Given the description of an element on the screen output the (x, y) to click on. 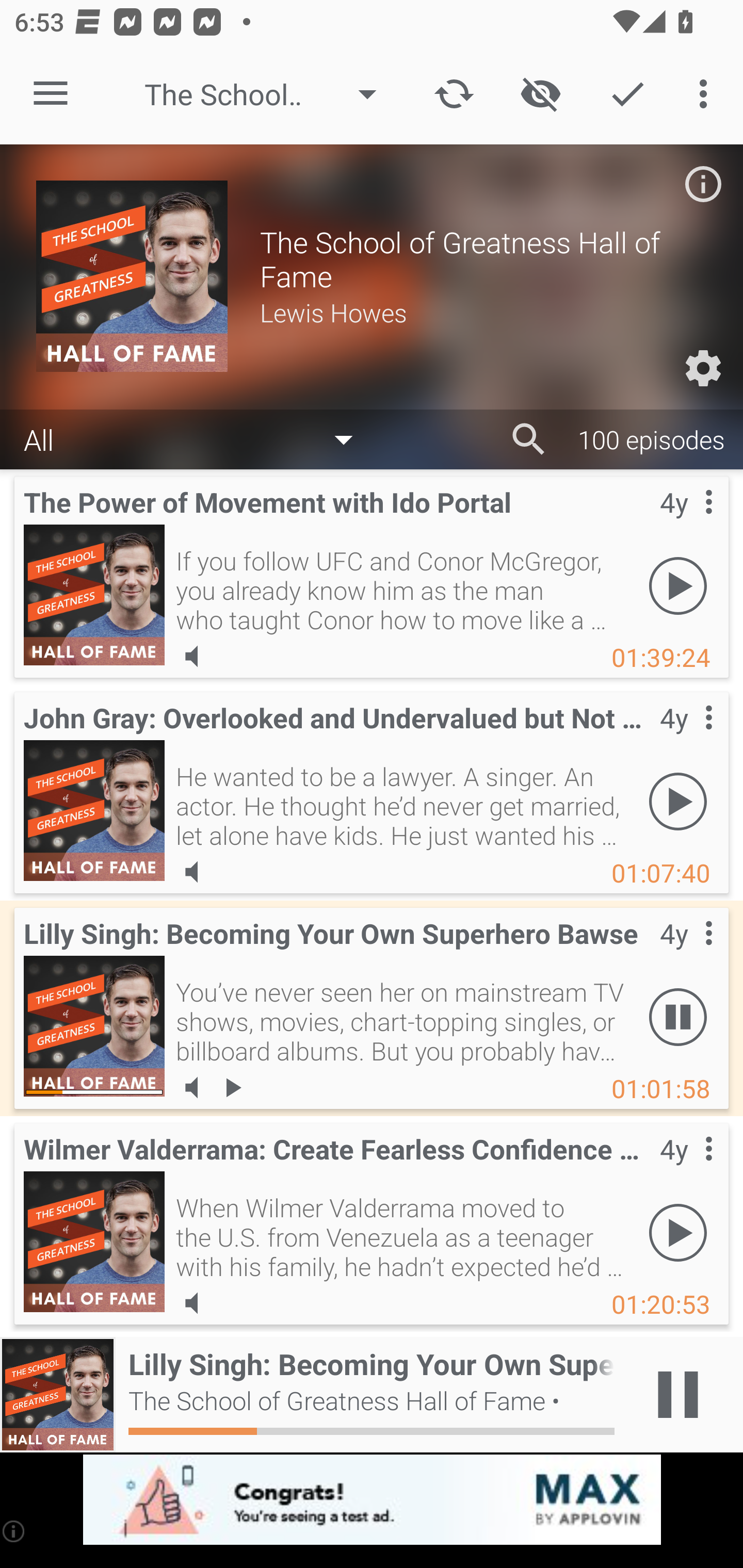
Open navigation sidebar (50, 93)
Update (453, 93)
Show / Hide played content (540, 93)
Action Mode (626, 93)
More options (706, 93)
The School of Greatness Hall of Fame (270, 94)
Custom Settings (703, 368)
Search (528, 439)
All (197, 438)
Contextual menu (685, 522)
The Power of Movement with Ido Portal (93, 594)
Play (677, 585)
Contextual menu (685, 738)
Play (677, 801)
Contextual menu (685, 954)
Lilly Singh: Becoming Your Own Superhero Bawse (93, 1026)
Pause (677, 1016)
Contextual menu (685, 1169)
Play (677, 1232)
Play / Pause (677, 1394)
